Given the description of an element on the screen output the (x, y) to click on. 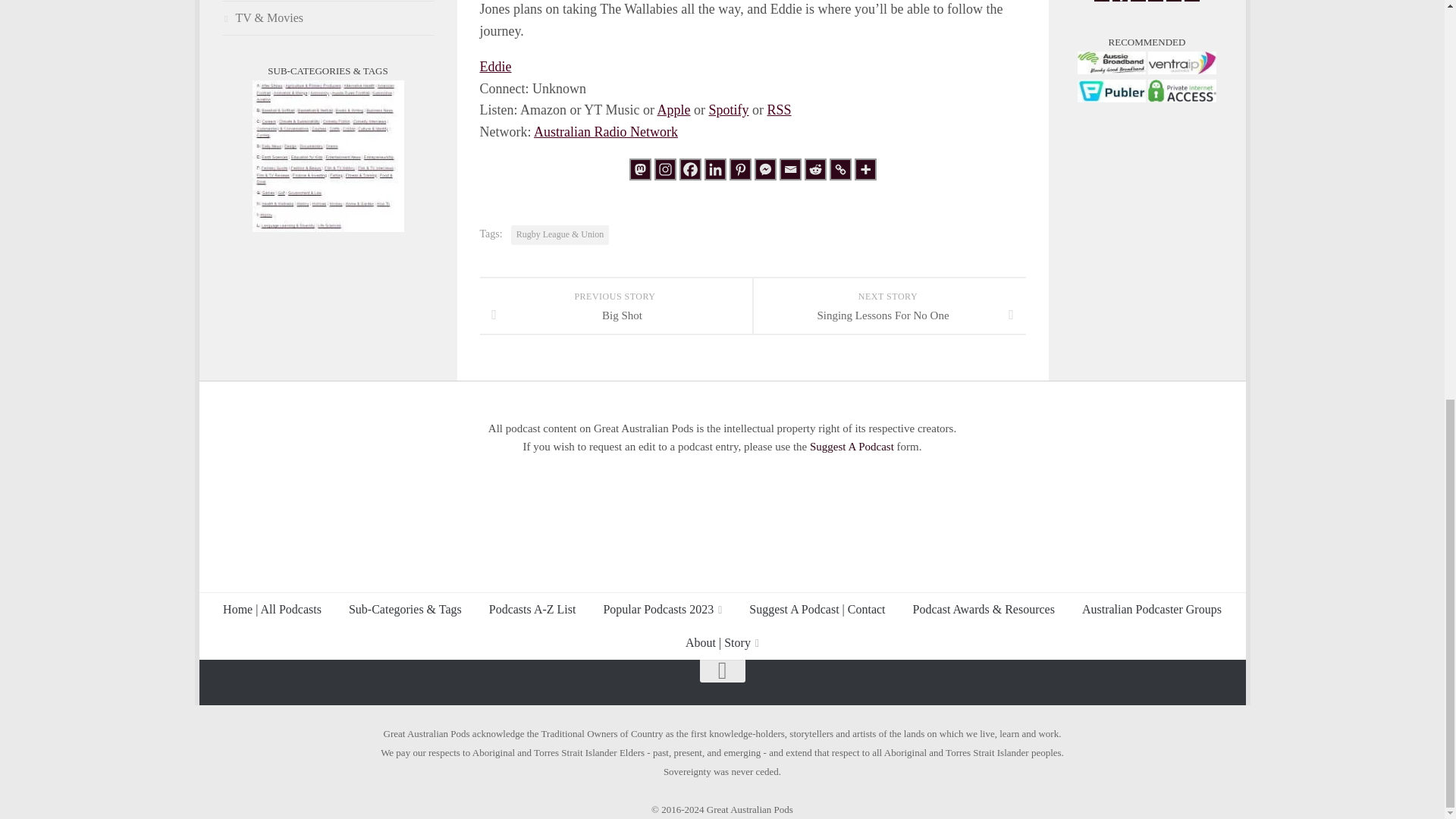
Reddit (814, 169)
Spotify (727, 109)
Instagram (664, 169)
More (864, 169)
Apple (673, 109)
Copy Link (840, 169)
Linkedin (714, 169)
Pinterest (740, 169)
Facebook (690, 169)
Eddie (495, 66)
Email (790, 169)
Mastodon (639, 169)
